Given the description of an element on the screen output the (x, y) to click on. 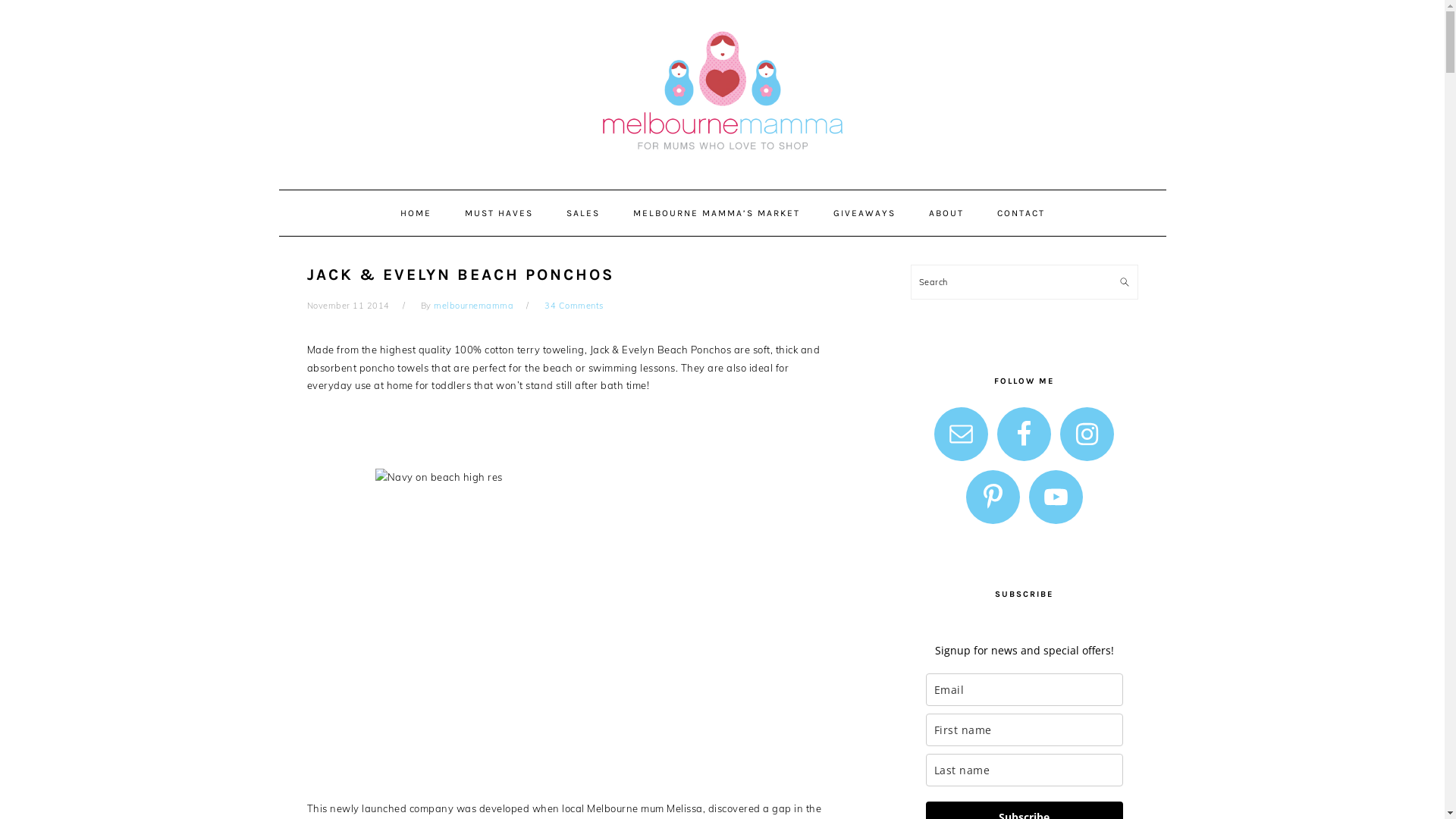
MUST HAVES Element type: text (498, 212)
CONTACT Element type: text (1020, 212)
Search Element type: text (1128, 272)
Skip to primary navigation Element type: text (0, 0)
SALES Element type: text (582, 212)
HOME Element type: text (414, 212)
GIVEAWAYS Element type: text (864, 212)
ABOUT Element type: text (946, 212)
34 Comments Element type: text (573, 305)
melbournemamma Element type: text (473, 305)
MELBOURNE MAMMA - FASHION | FOOD | FAMILY | FUN | SHOPPING Element type: text (721, 89)
